Given the description of an element on the screen output the (x, y) to click on. 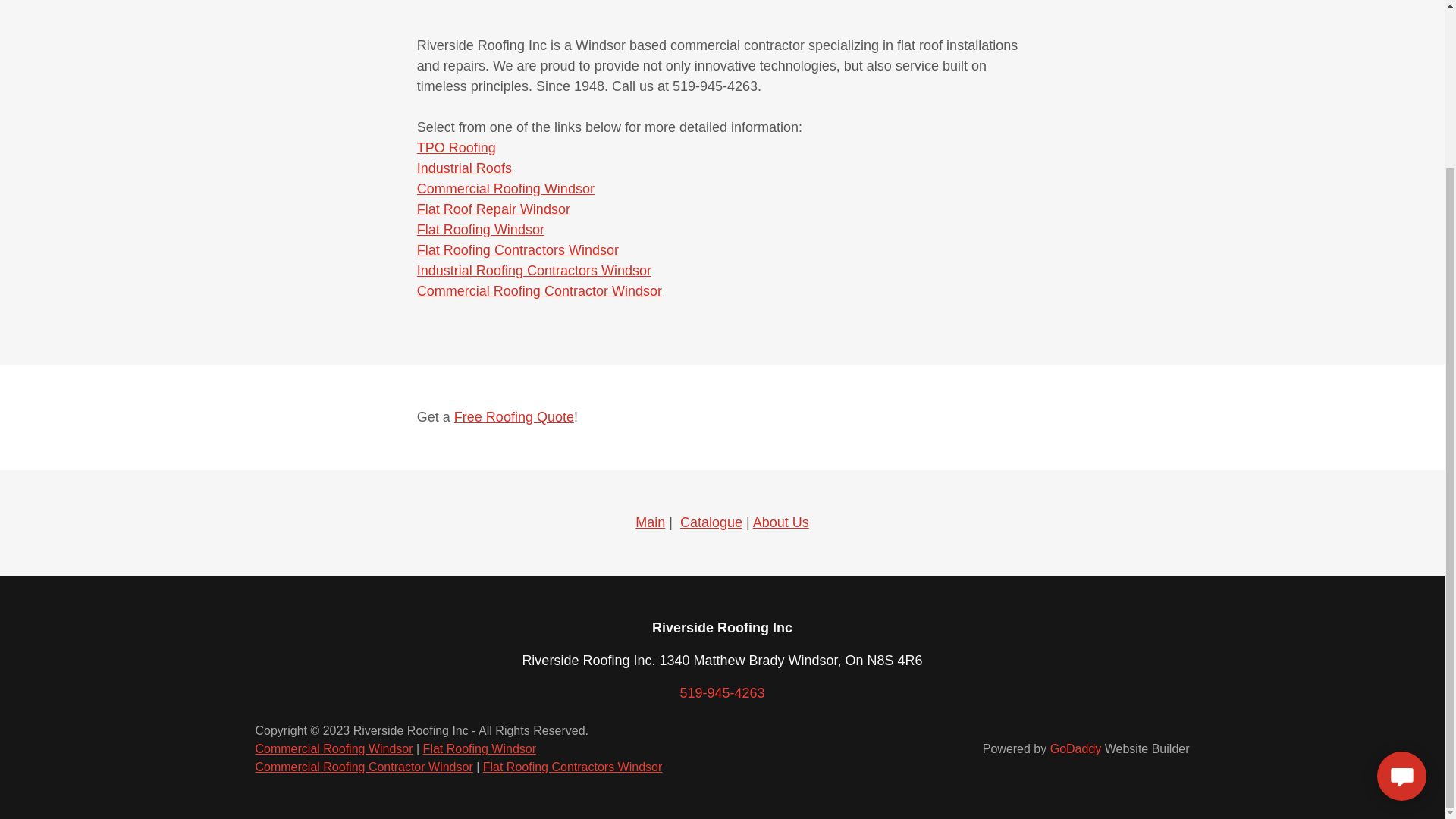
Industrial Roofs (464, 168)
Main (649, 522)
Free Roofing Quote (513, 417)
Catalogue (710, 522)
Flat Roofing Windsor (480, 229)
Flat Roofing Contractors Windsor (517, 249)
Flat Roof Repair Windsor (493, 209)
Flat Roofing Windsor (479, 748)
Commercial Roofing Contractor Windsor (362, 766)
About Us (780, 522)
